Given the description of an element on the screen output the (x, y) to click on. 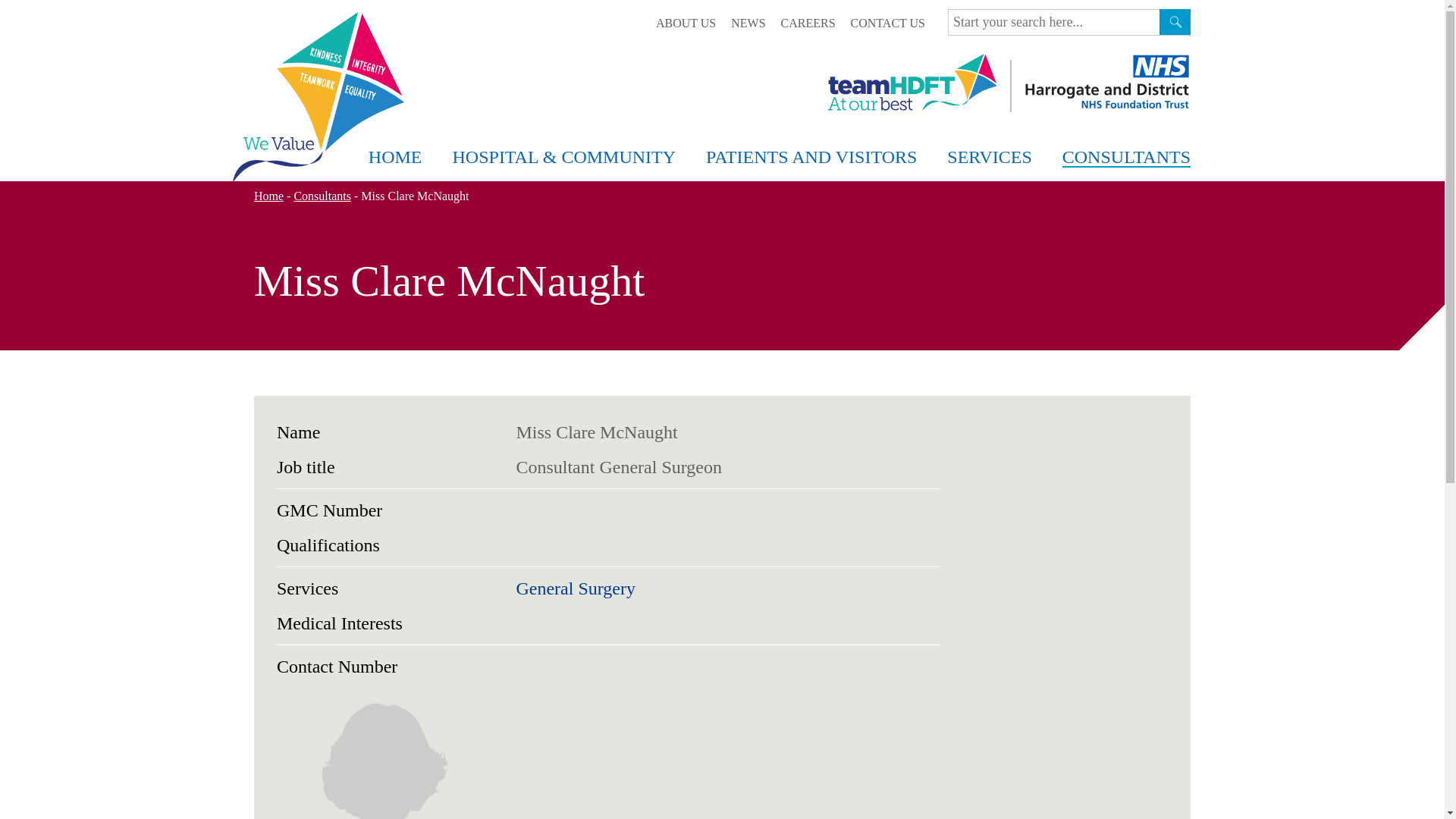
HOME (395, 158)
Team HDFT, at our best (912, 82)
NEWS (748, 22)
CAREERS (808, 22)
ABOUT US (685, 22)
Harrogate and District NHS Foundation Trust (1106, 82)
CONTACT US (888, 22)
Go to Harrogate and District NHS Foundation Trust. (268, 195)
Search (1174, 22)
Go to Consultants. (322, 195)
